Given the description of an element on the screen output the (x, y) to click on. 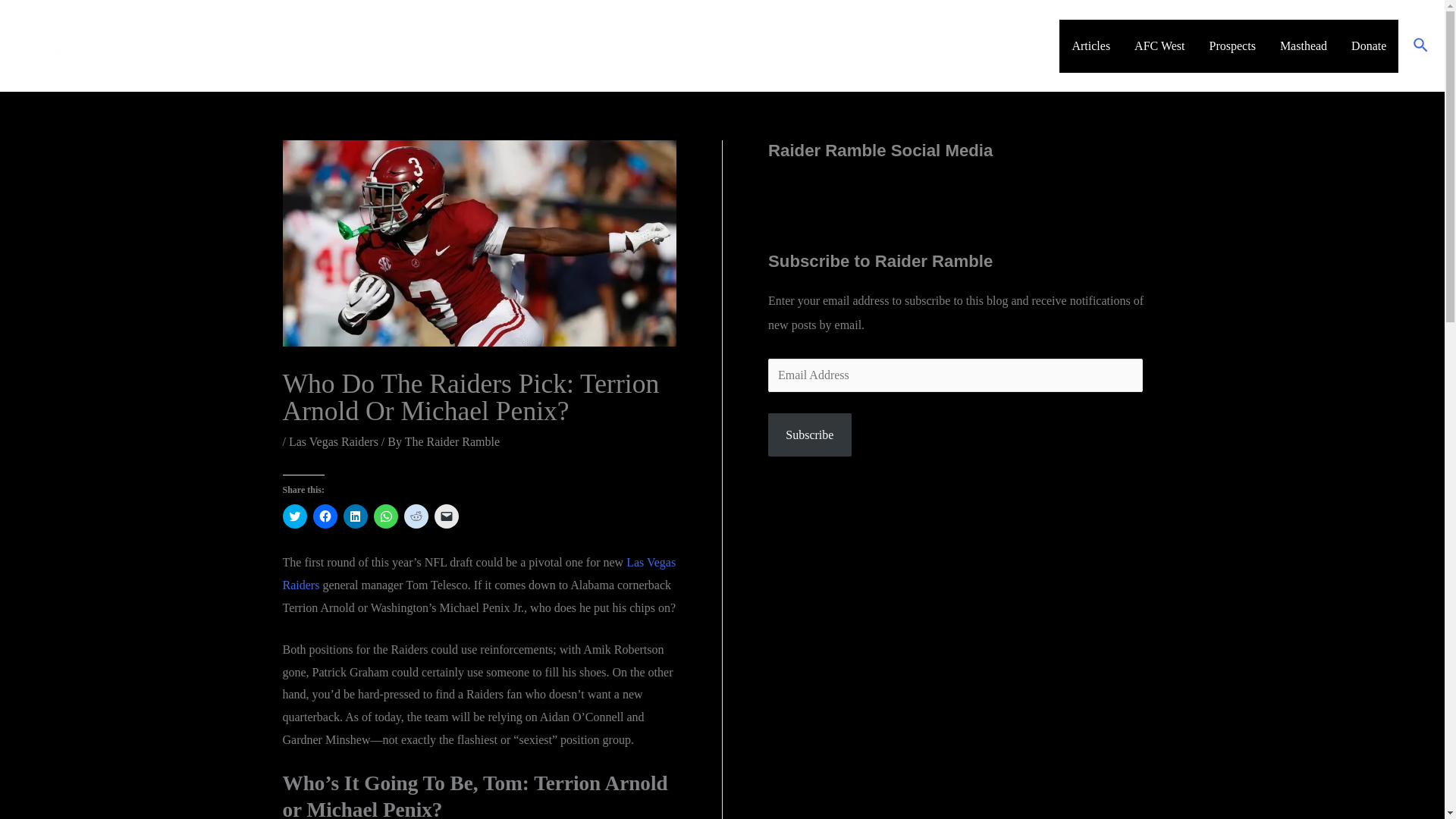
Prospects (1232, 45)
Click to share on Facebook (324, 516)
Las Vegas Raiders (333, 440)
AFC West (1159, 45)
Articles (1090, 45)
Las Vegas Raiders (478, 573)
Click to share on LinkedIn (354, 516)
Donate (1368, 45)
Click to share on Reddit (415, 516)
The Raider Ramble (451, 440)
